Given the description of an element on the screen output the (x, y) to click on. 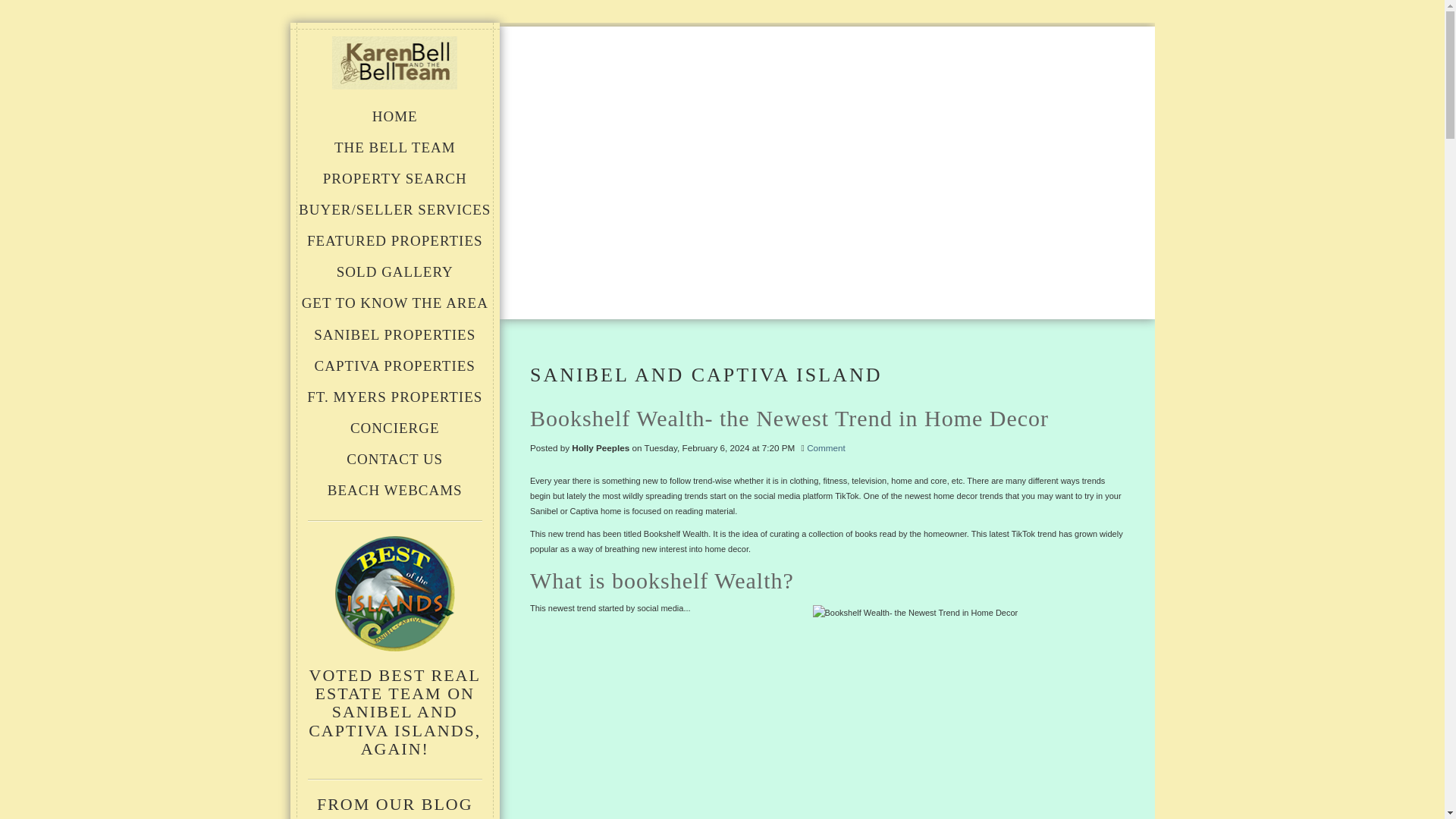
THE BELL TEAM (394, 146)
FROM OUR BLOG (395, 804)
SANIBEL PROPERTIES (394, 333)
CONTACT US (394, 457)
SOLD GALLERY (394, 270)
GET TO KNOW THE AREA (394, 301)
CAPTIVA PROPERTIES (394, 364)
FEATURED PROPERTIES (394, 239)
Bookshelf Wealth- the Newest Trend in Home Decor (826, 416)
PROPERTY SEARCH (394, 177)
